Given the description of an element on the screen output the (x, y) to click on. 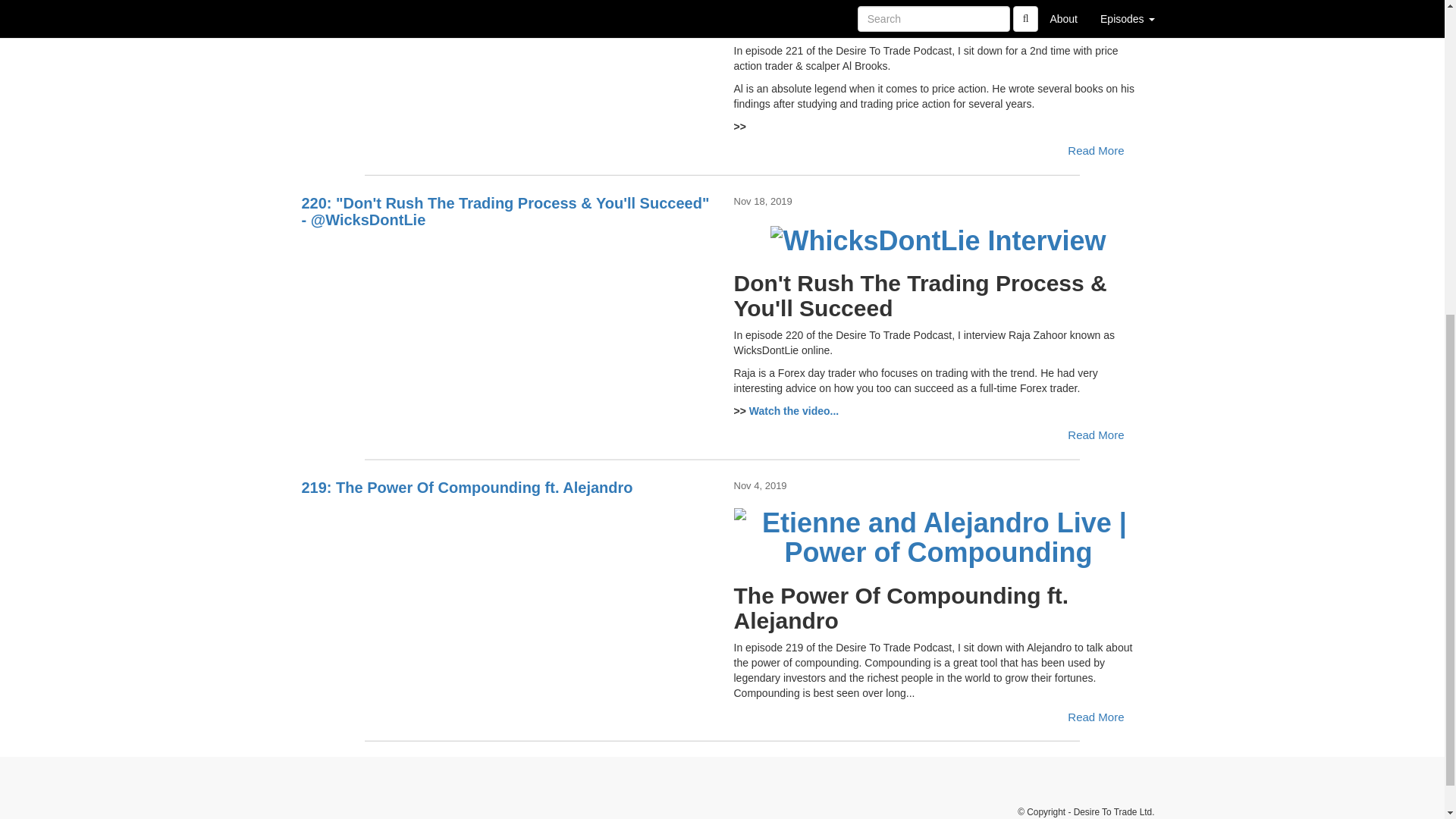
221: The Best Price Action Trader In The World - Al Brooks (506, 7)
WicksDontLie Interview (794, 410)
219: The Power Of Compounding ft. Alejandro (506, 533)
